Given the description of an element on the screen output the (x, y) to click on. 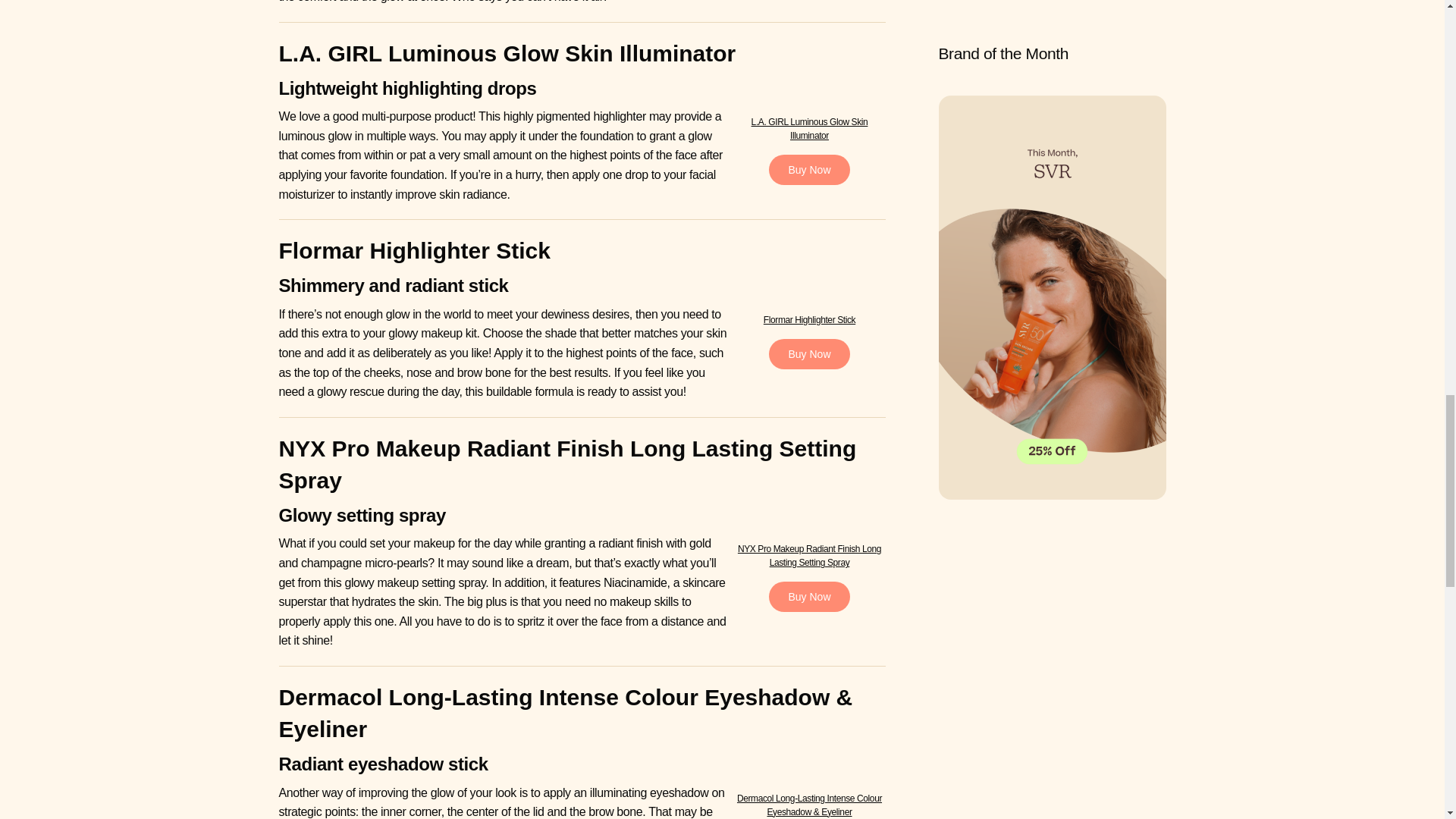
Buy Now (808, 169)
